Given the description of an element on the screen output the (x, y) to click on. 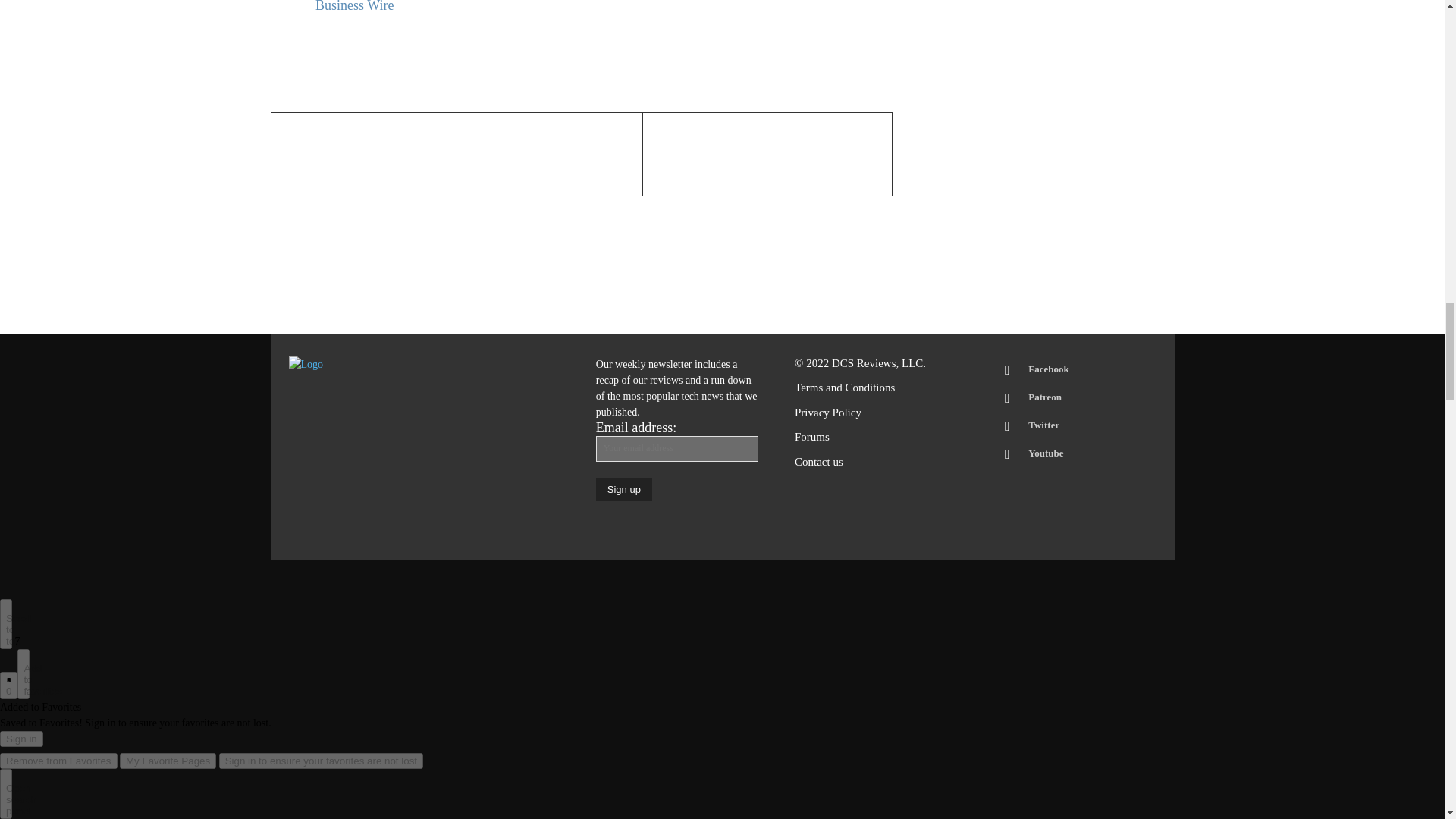
Sign up (623, 489)
